Given the description of an element on the screen output the (x, y) to click on. 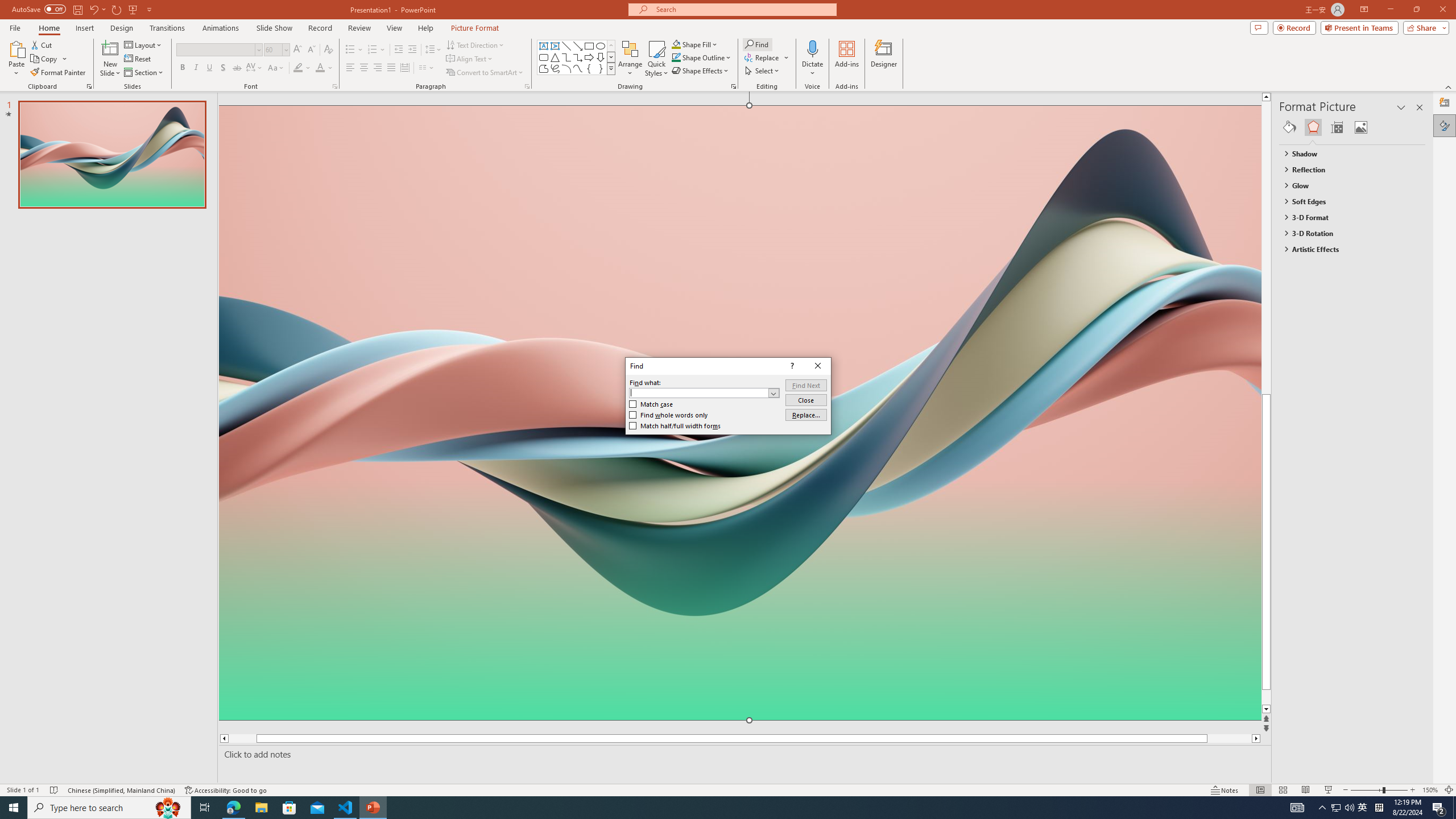
Right Brace (600, 68)
Italic (195, 67)
Shape Outline (701, 56)
